Given the description of an element on the screen output the (x, y) to click on. 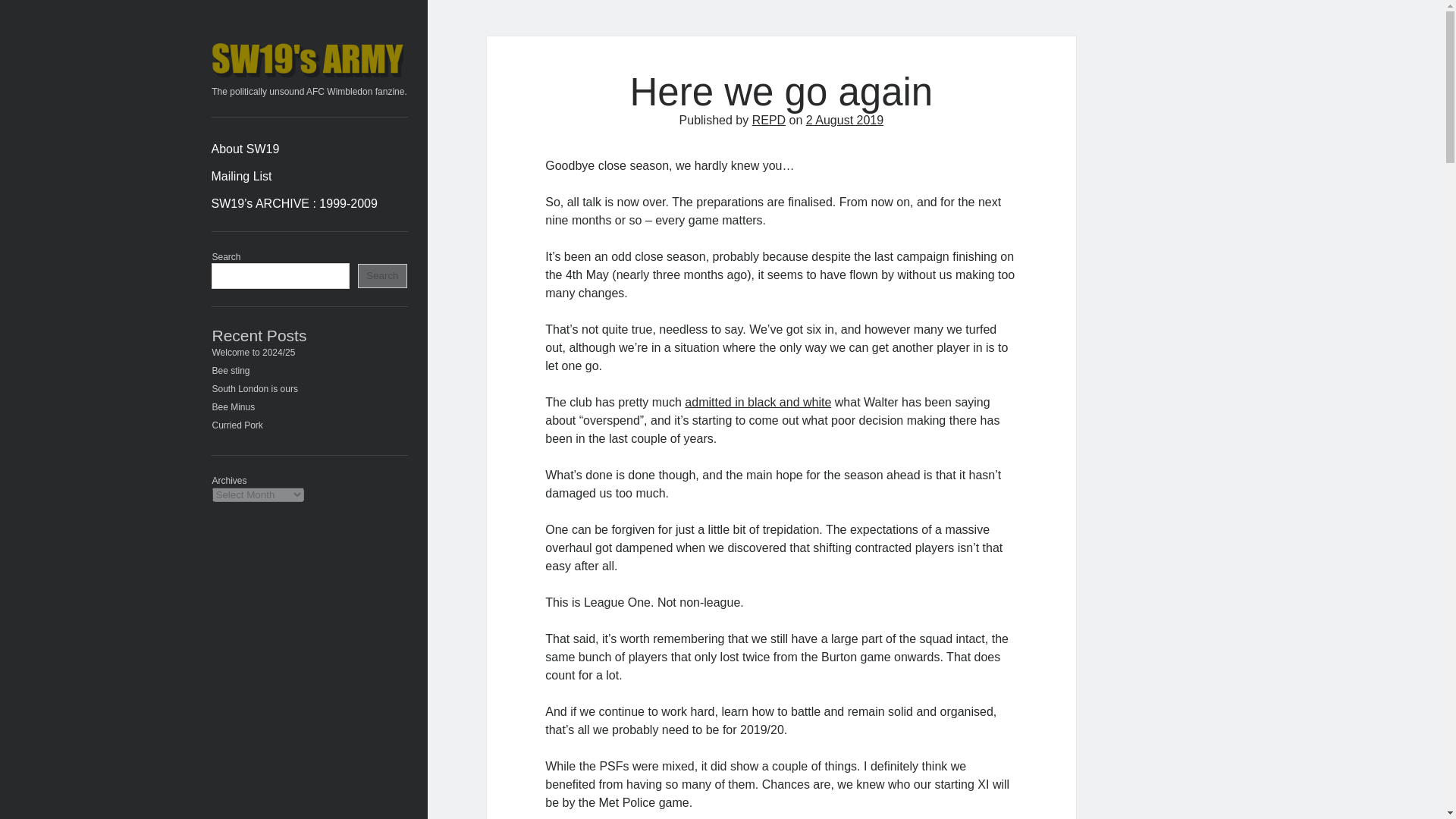
South London is ours (255, 388)
REPD (769, 119)
About SW19 (245, 149)
Curried Pork (237, 425)
Bee Minus (234, 407)
Bee sting (231, 370)
SW19's ARMY (309, 73)
2 August 2019 (844, 119)
admitted in black and white (757, 401)
Search (382, 275)
